Given the description of an element on the screen output the (x, y) to click on. 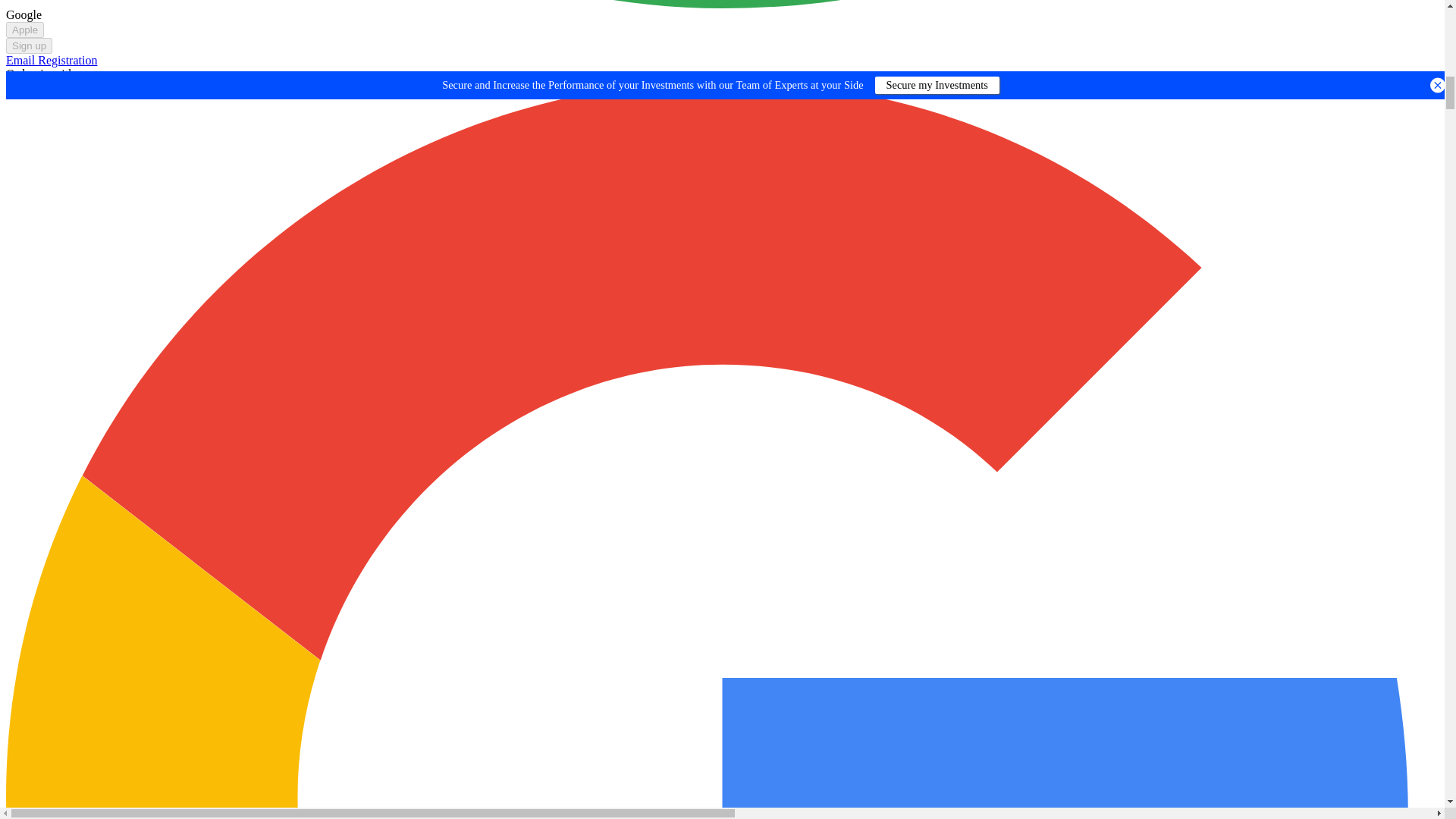
Apple (24, 29)
Sign up (28, 45)
Email Registration (51, 60)
